Given the description of an element on the screen output the (x, y) to click on. 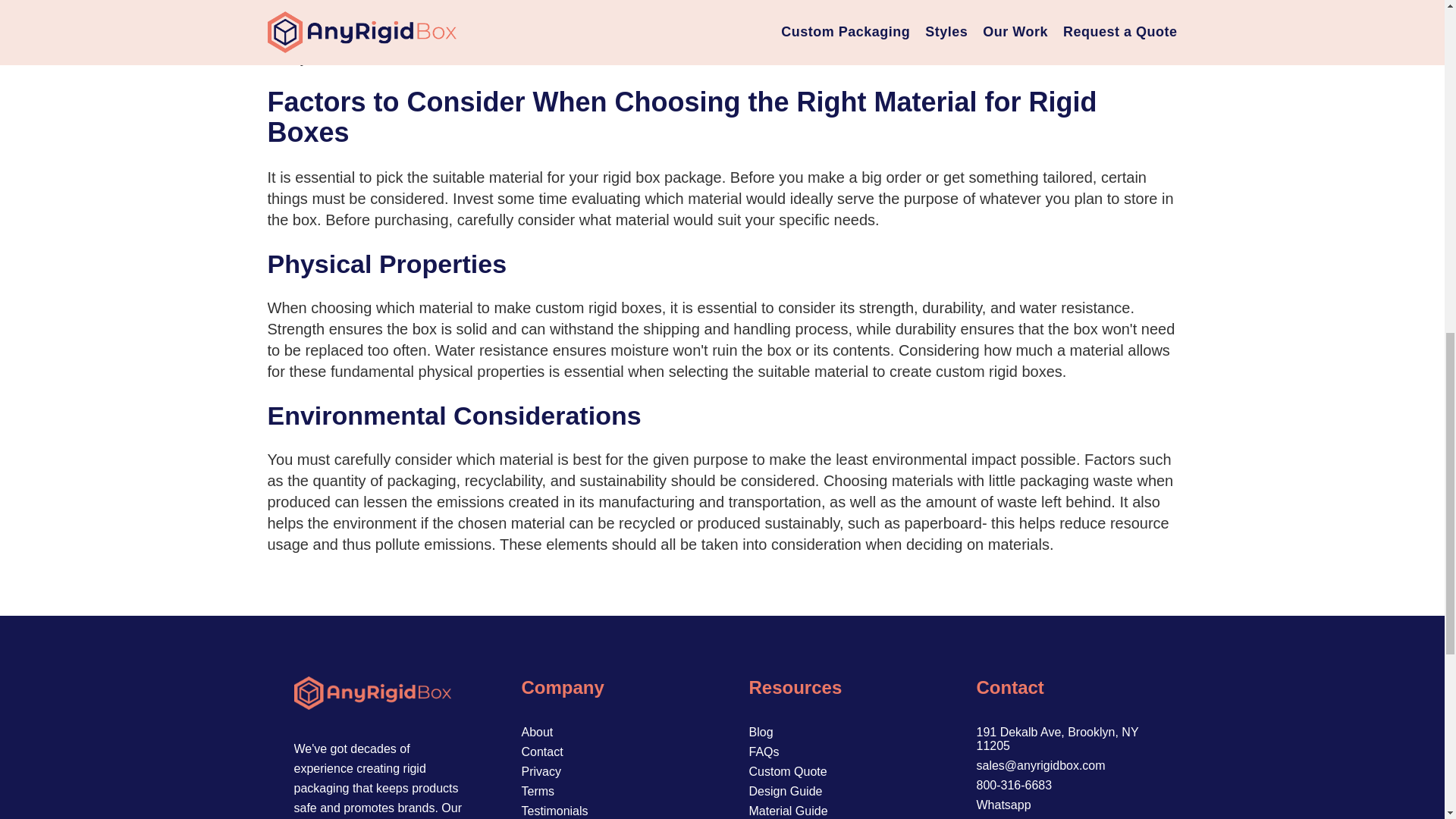
About (537, 731)
800-316-6683 (1014, 784)
Design Guide (785, 790)
Terms (537, 790)
Custom Quote (788, 771)
Material Guide (788, 810)
Contact (542, 751)
Blog (761, 731)
Testimonials (554, 810)
FAQs (763, 751)
Privacy (540, 771)
